Given the description of an element on the screen output the (x, y) to click on. 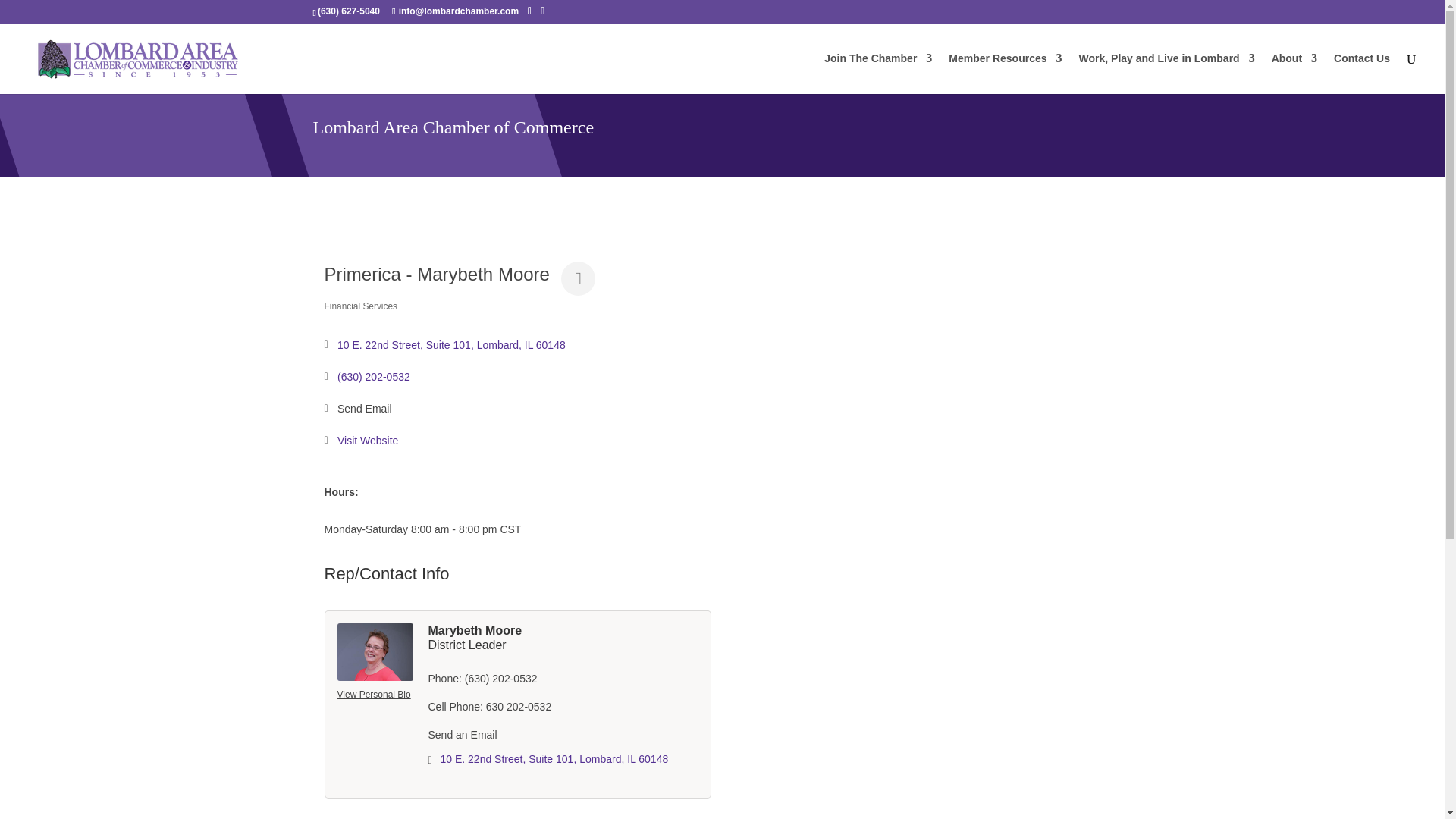
Work, Play and Live in Lombard (1166, 73)
Visit Website (367, 440)
Contact Us (1361, 73)
Member Resources (1005, 73)
Join The Chamber (877, 73)
About (1294, 73)
Send Email (364, 408)
10 E. 22nd Street Suite 101 Lombard IL 60148 (451, 345)
